Given the description of an element on the screen output the (x, y) to click on. 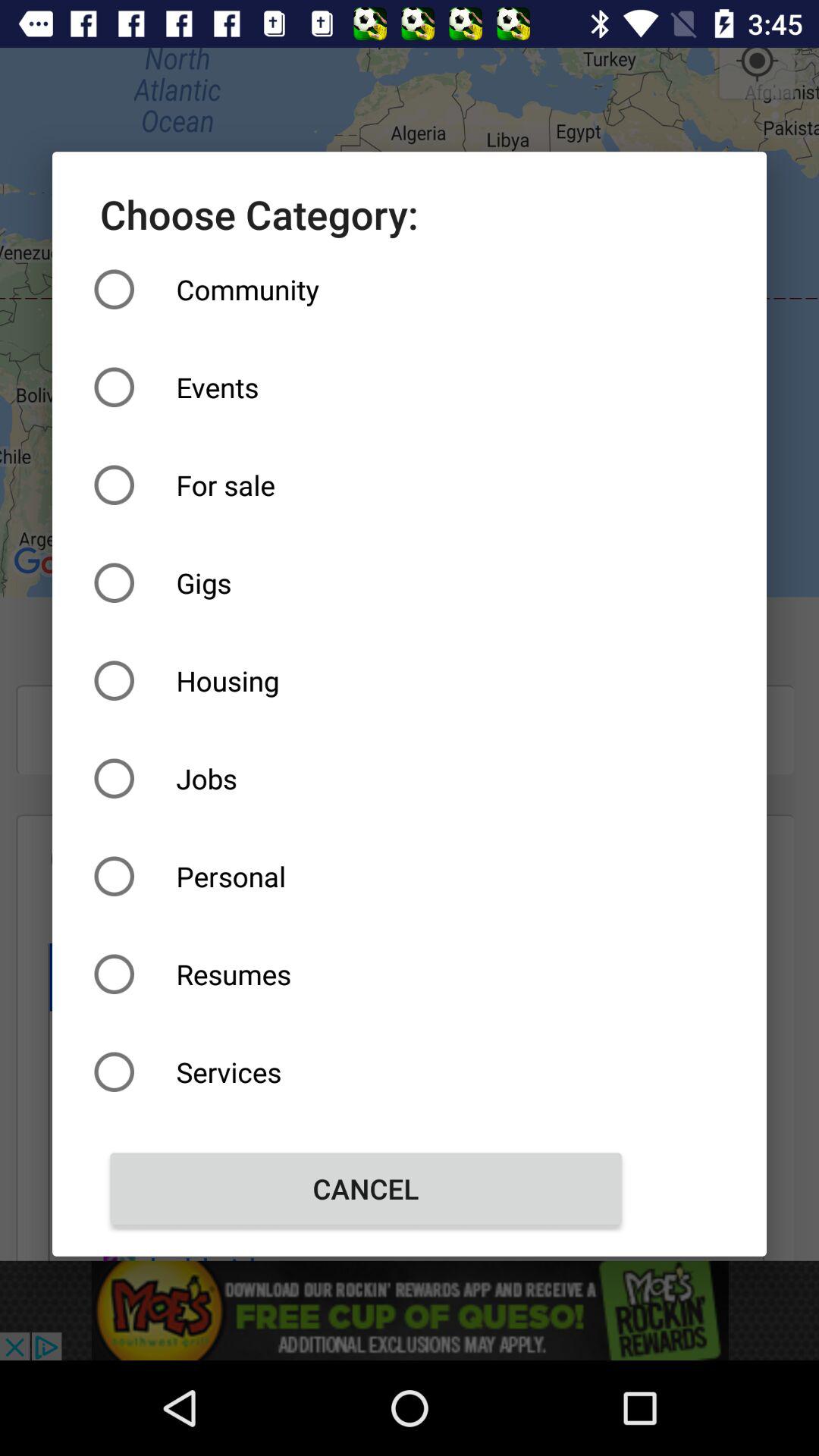
swipe to the events (365, 387)
